Given the description of an element on the screen output the (x, y) to click on. 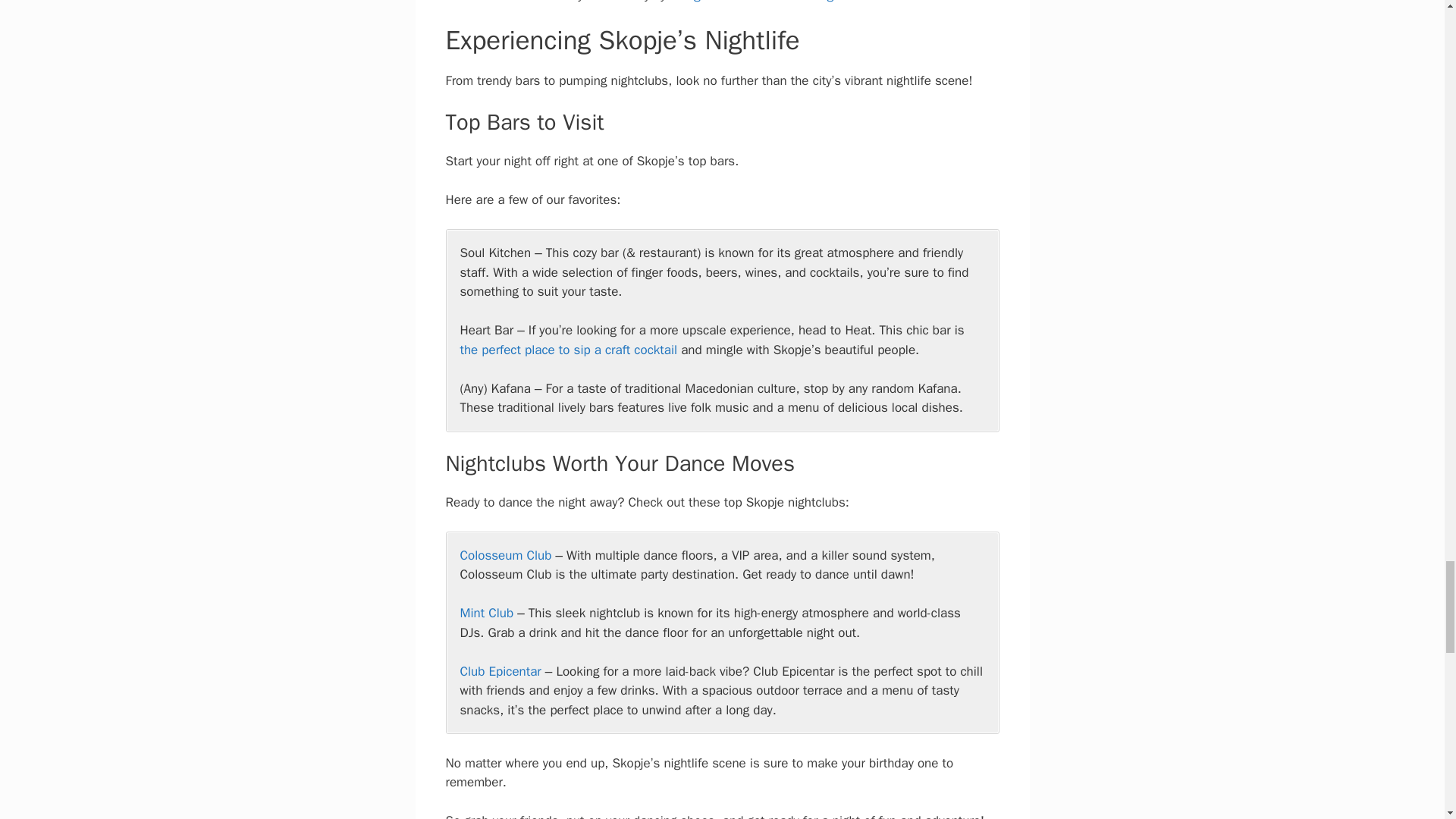
Mint Club (486, 612)
doing a wine tour and tasting some local wines (801, 1)
Club Epicentar (500, 671)
Colosseum Club (505, 555)
the perfect place to sip a craft cocktail (568, 349)
